Given the description of an element on the screen output the (x, y) to click on. 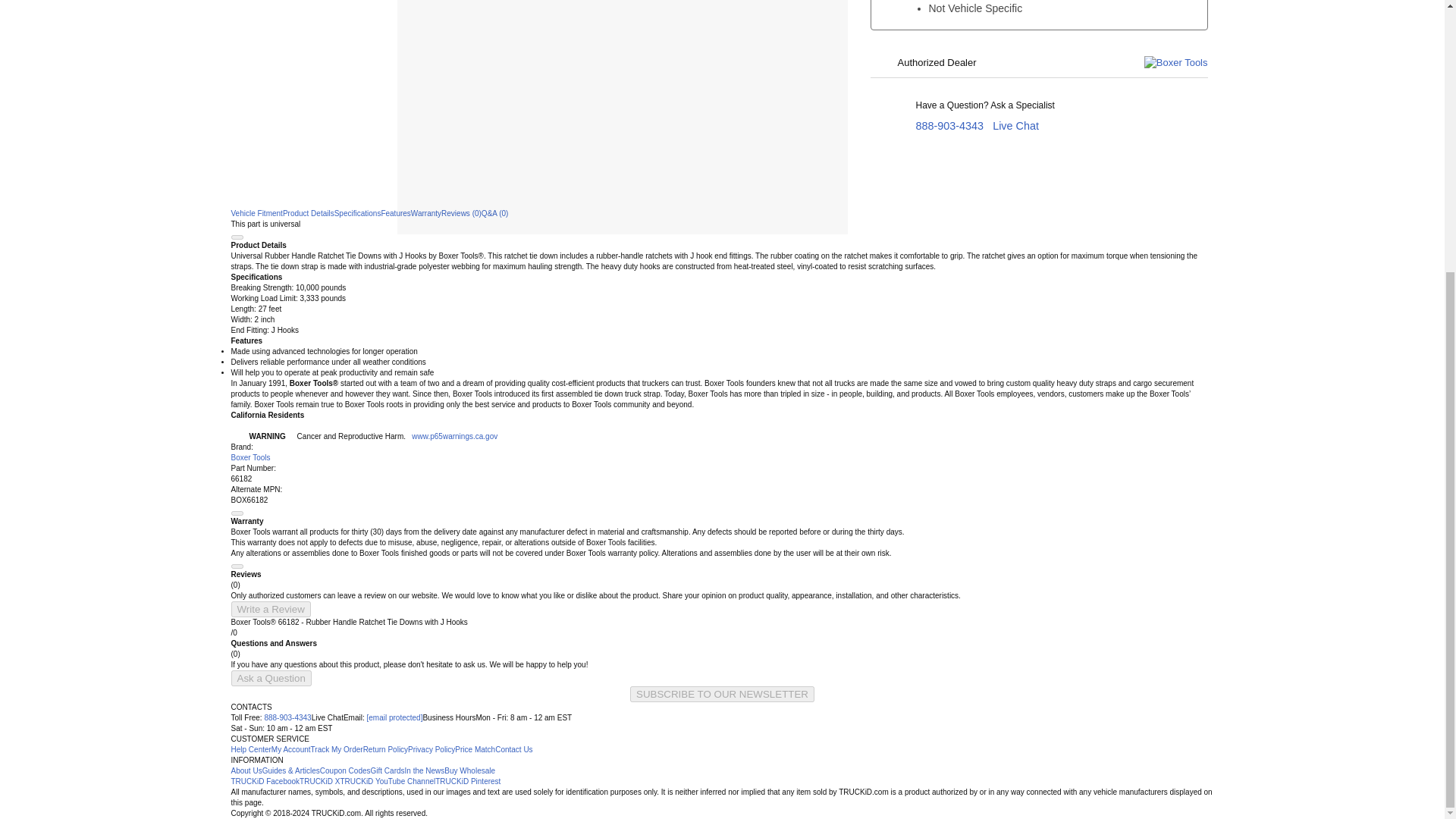
Product Details (308, 213)
888-903-4343 (949, 125)
Write a Review (270, 609)
Ask a Question (270, 678)
Features (395, 213)
Product Details (308, 213)
Warranty (425, 213)
Vehicle Fitment (256, 213)
Boxer Tools (249, 457)
Specifications (357, 213)
